Given the description of an element on the screen output the (x, y) to click on. 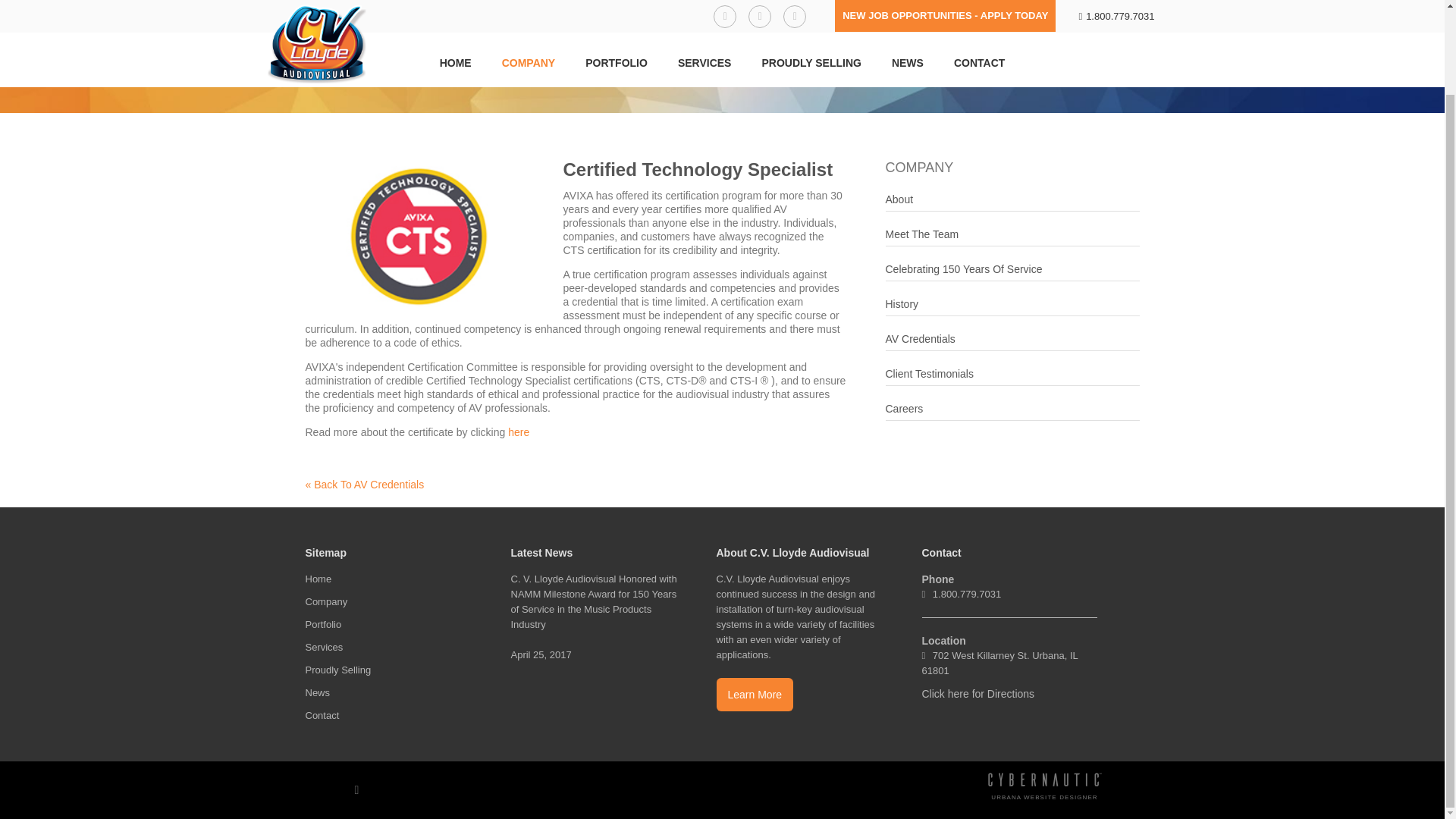
About (1012, 201)
Celebrating 150 Years Of Service (1012, 271)
Home (392, 579)
Portfolio (392, 624)
here (518, 431)
AV Credentials (1012, 341)
Careers (1012, 410)
Services (392, 647)
Meet The Team (1012, 236)
History (1012, 306)
Client Testimonials (1012, 375)
Company (392, 601)
